Given the description of an element on the screen output the (x, y) to click on. 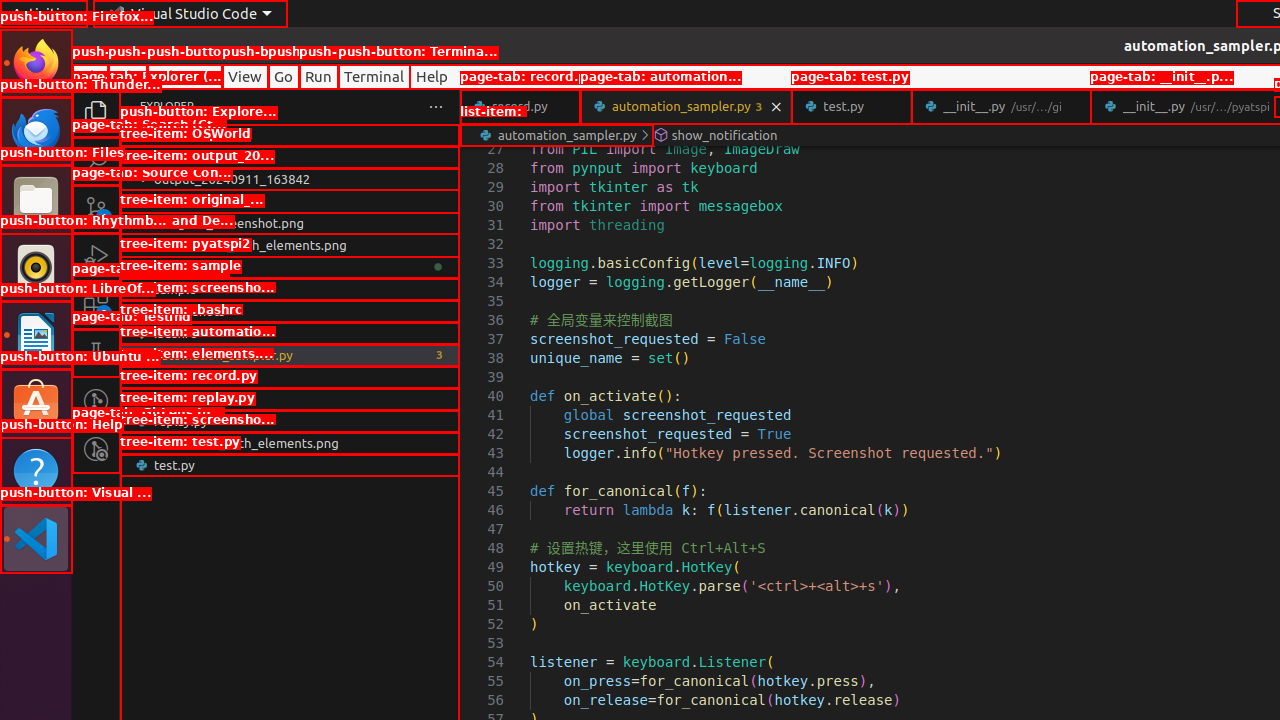
Edit Element type: push-button (127, 76)
record.py Element type: tree-item (289, 399)
automation_sampler.py Element type: tree-item (289, 355)
